Given the description of an element on the screen output the (x, y) to click on. 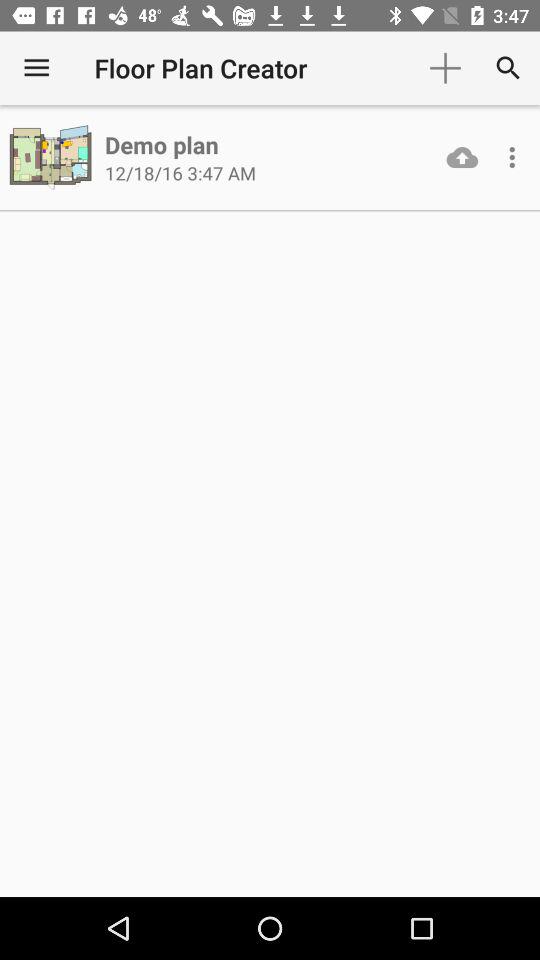
options for demo plan (512, 157)
